Given the description of an element on the screen output the (x, y) to click on. 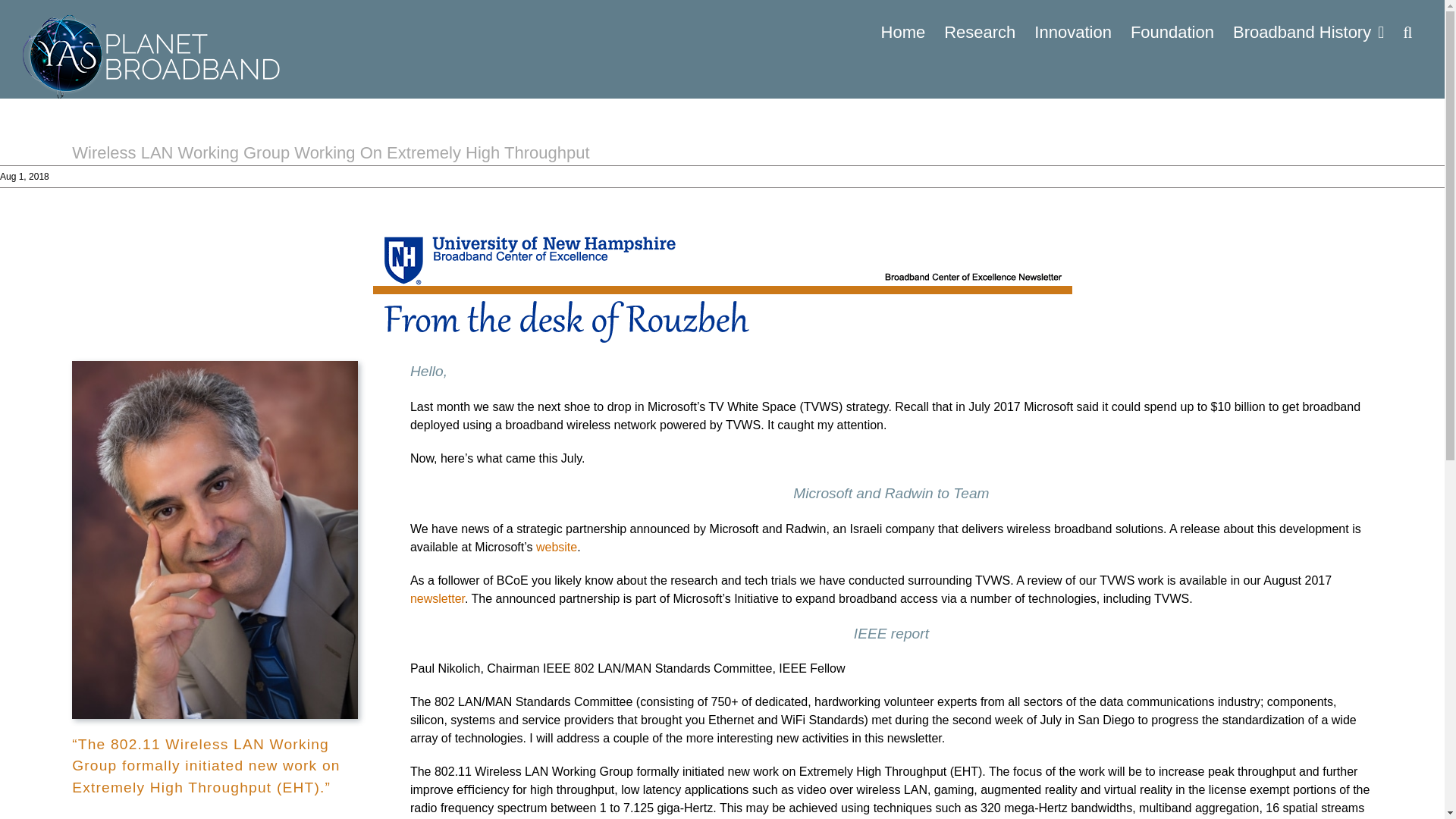
Foundation (1172, 32)
Research (979, 32)
Innovation (1073, 32)
Home (902, 32)
Broadband History (1308, 32)
